Given the description of an element on the screen output the (x, y) to click on. 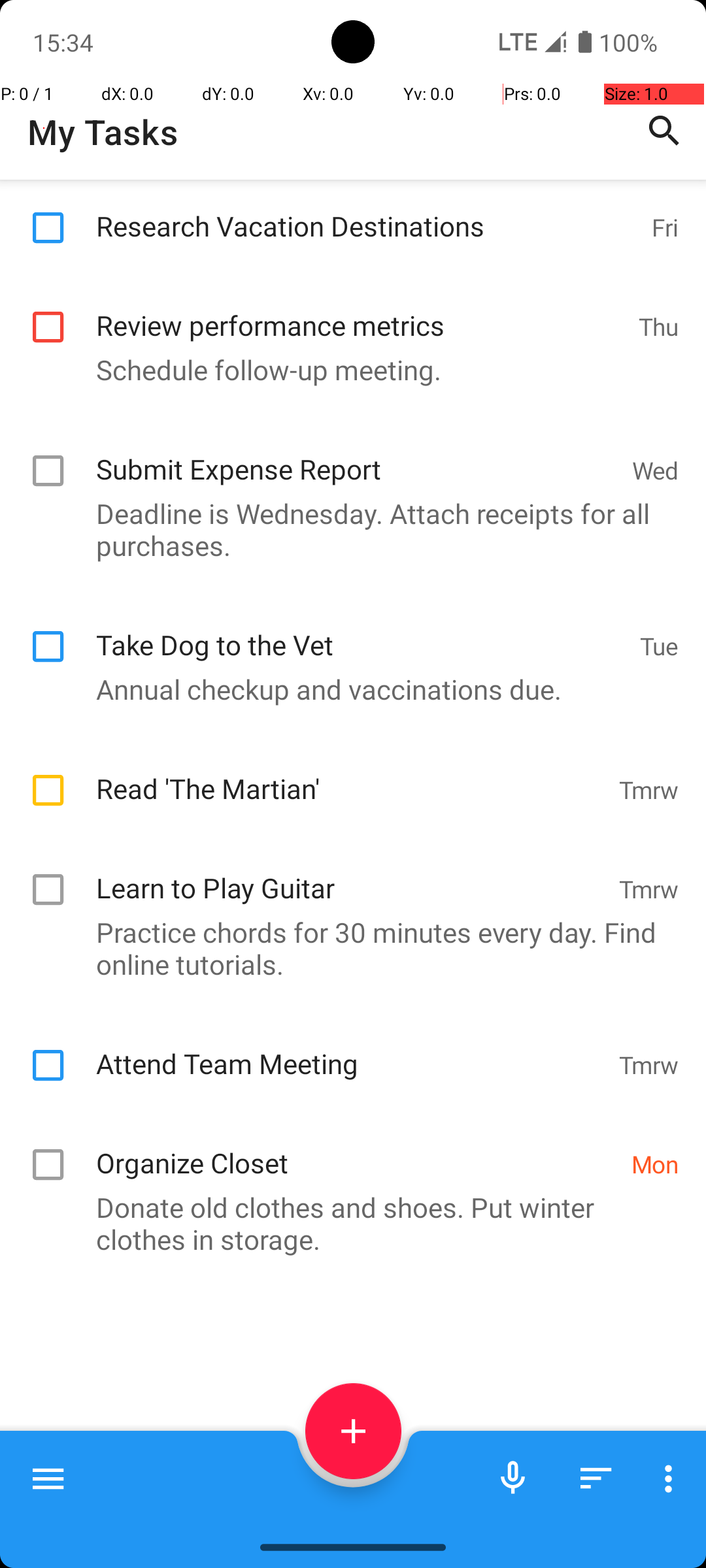
Review performance metrics Element type: android.widget.TextView (360, 310)
Schedule follow-up meeting. Element type: android.widget.TextView (346, 369)
Annual checkup and vaccinations due. Element type: android.widget.TextView (346, 688)
Practice chords for 30 minutes every day. Find online tutorials. Element type: android.widget.TextView (346, 947)
